Given the description of an element on the screen output the (x, y) to click on. 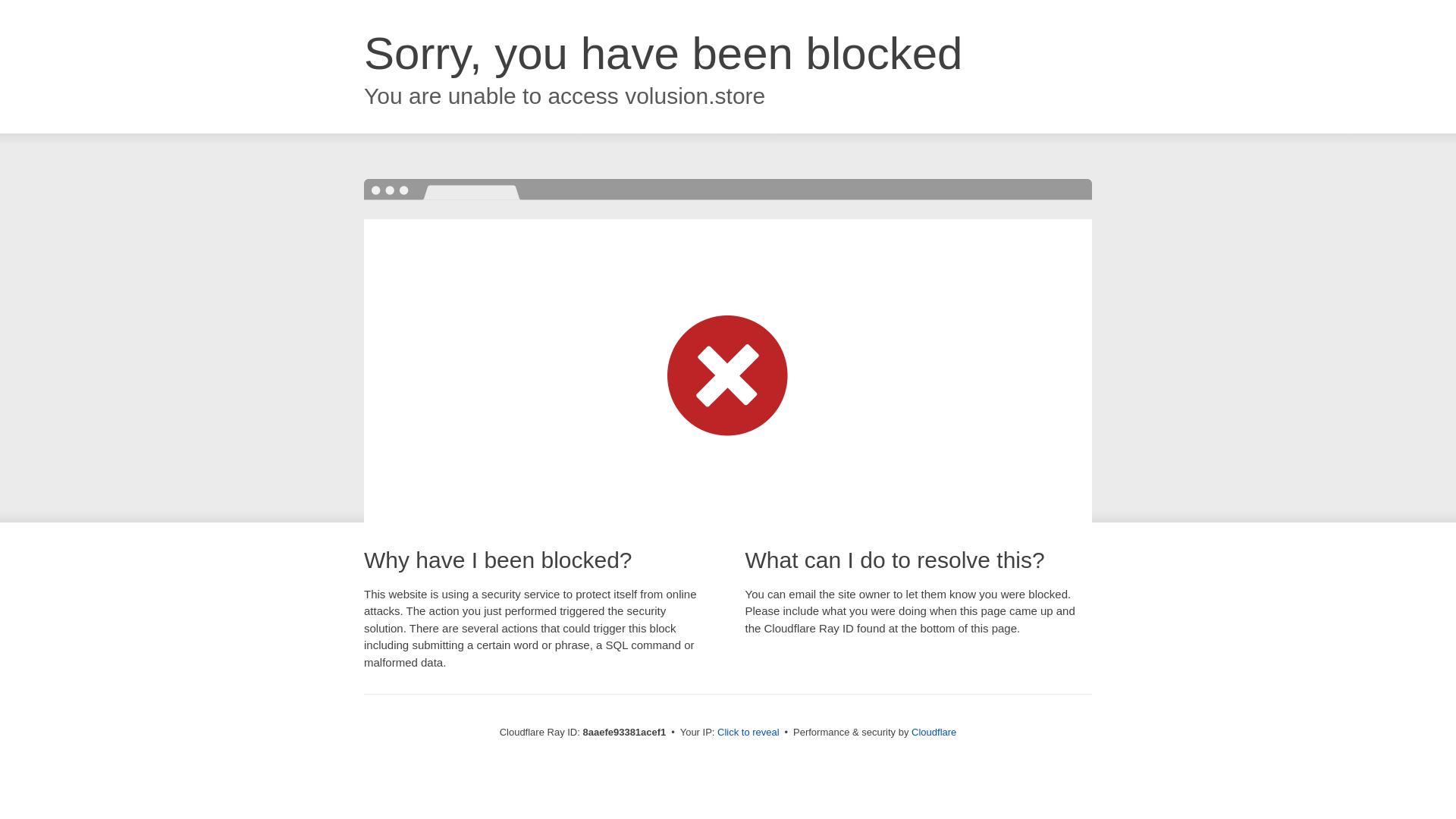
Cloudflare (933, 731)
Click to reveal (747, 732)
